Given the description of an element on the screen output the (x, y) to click on. 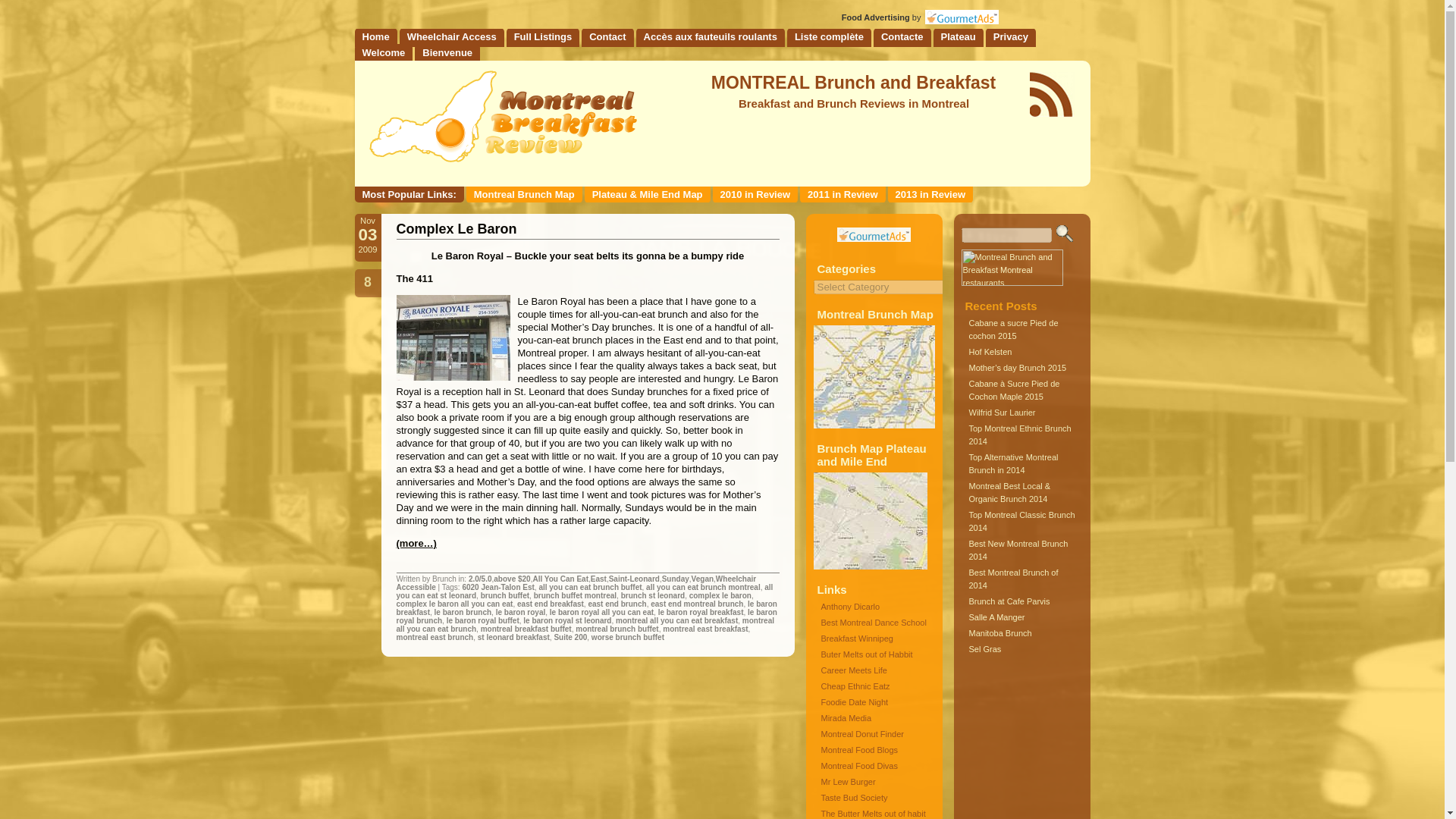
2013 in Review (931, 194)
MONTREAL Brunch and Breakfast (853, 82)
complex le baron (719, 595)
2011 in Review (842, 194)
Food Advertising (875, 17)
East (599, 578)
Sunday (675, 578)
Wheelchair Access (450, 36)
Plateau (958, 36)
Complex Le Baron (456, 228)
